Given the description of an element on the screen output the (x, y) to click on. 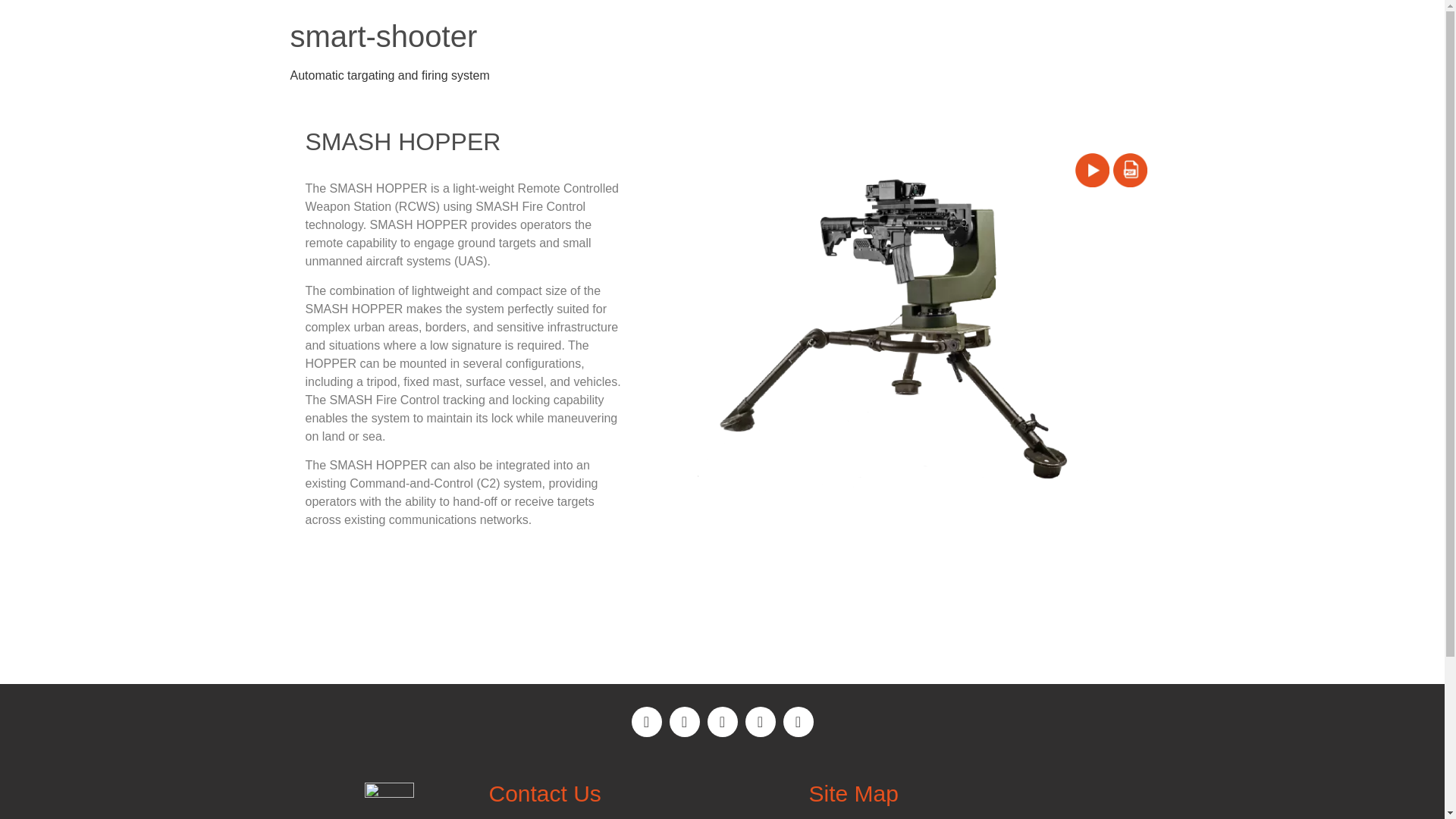
smart-shooter (383, 36)
Home (383, 36)
